Given the description of an element on the screen output the (x, y) to click on. 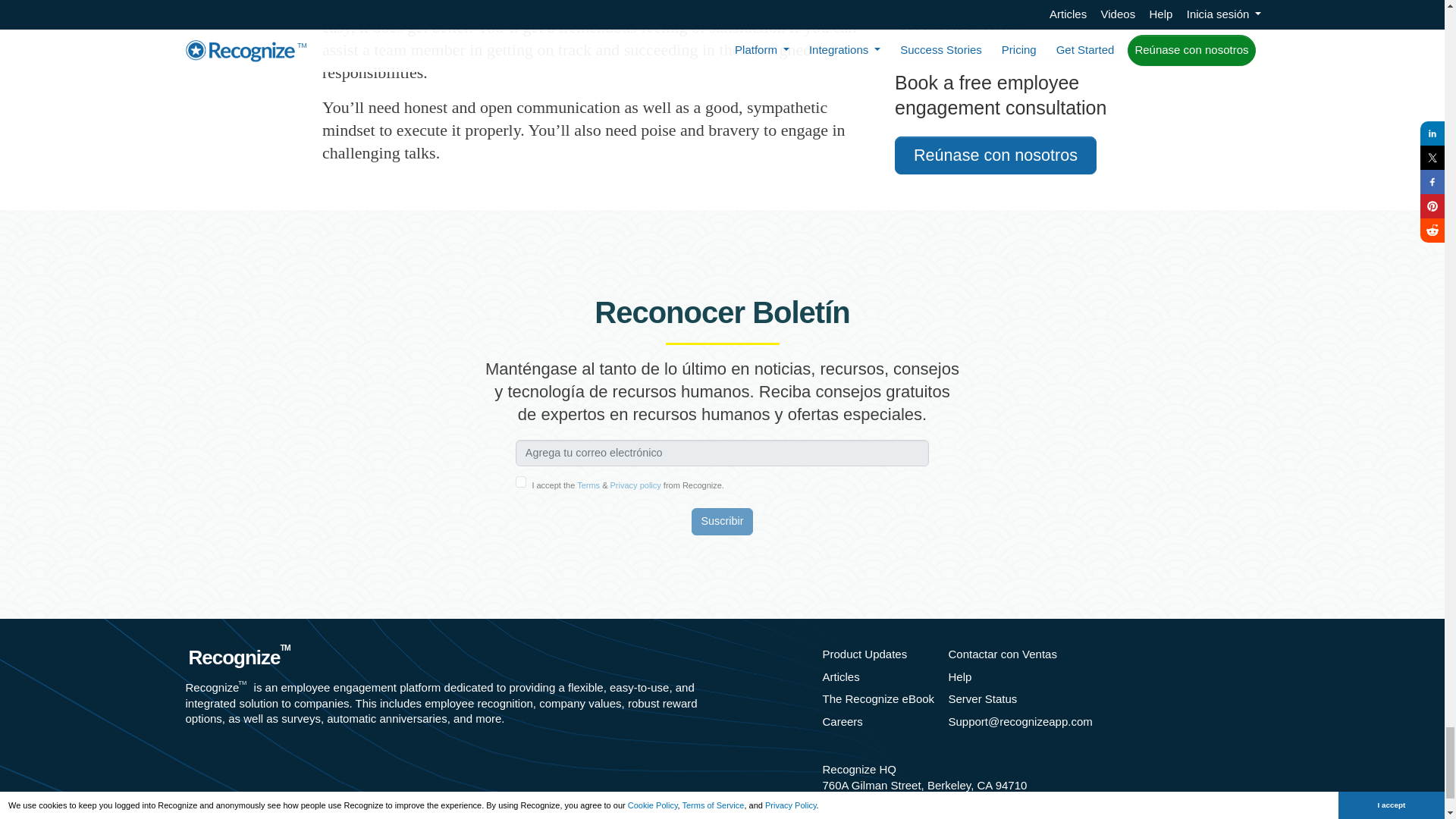
Suscribir (722, 521)
